Given the description of an element on the screen output the (x, y) to click on. 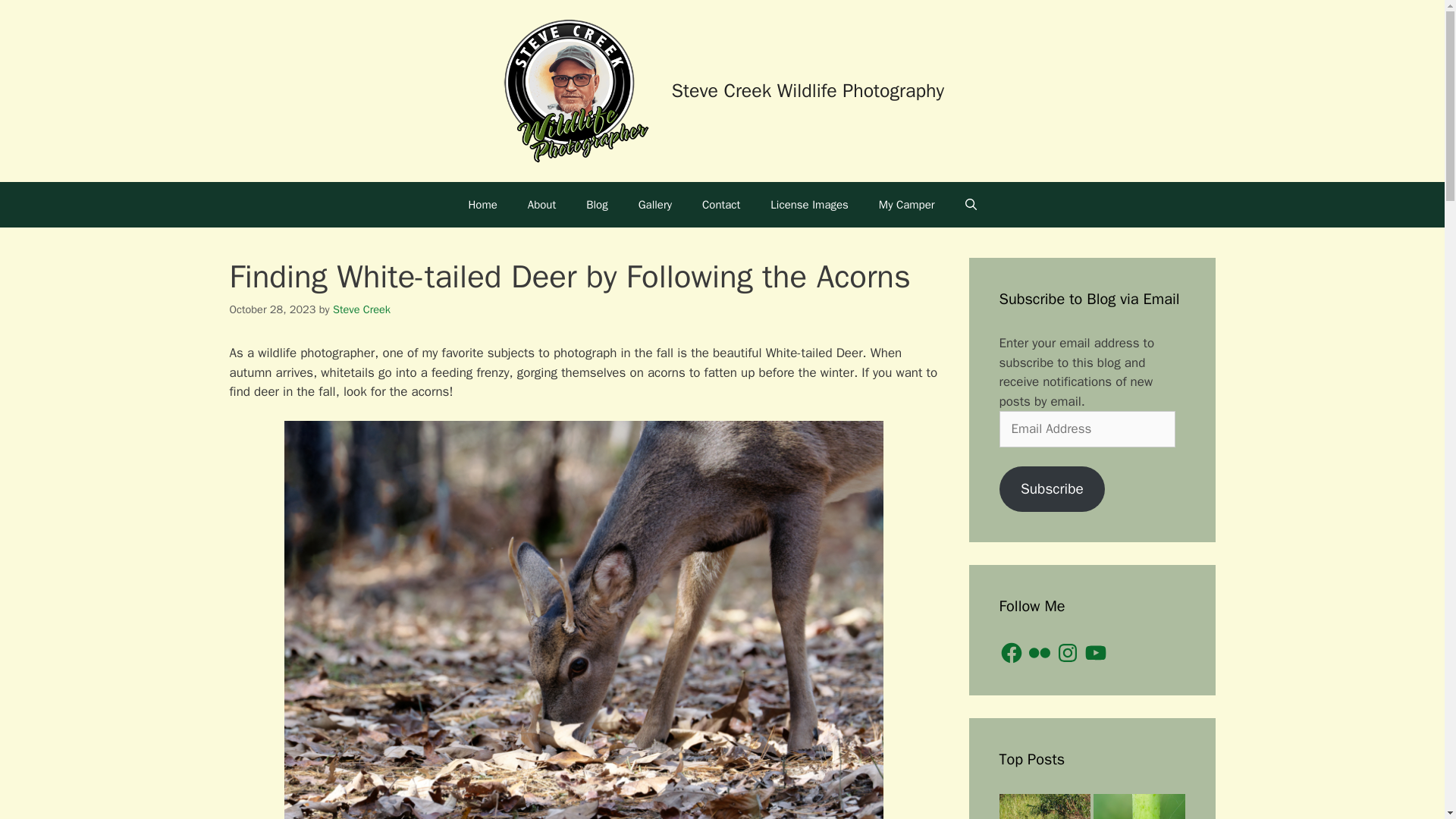
Contact Steve Creek (721, 204)
Information about Steve Creek (541, 204)
View all posts by Steve Creek (361, 309)
Steve Creek Wildlife Photography (807, 90)
My Camper (906, 204)
Contact (721, 204)
Gallery (655, 204)
Gallery (655, 204)
Instagram (1067, 652)
About (541, 204)
License Images (809, 204)
License Images (809, 204)
Blog (596, 204)
Facebook (1010, 652)
My Camper (906, 204)
